Given the description of an element on the screen output the (x, y) to click on. 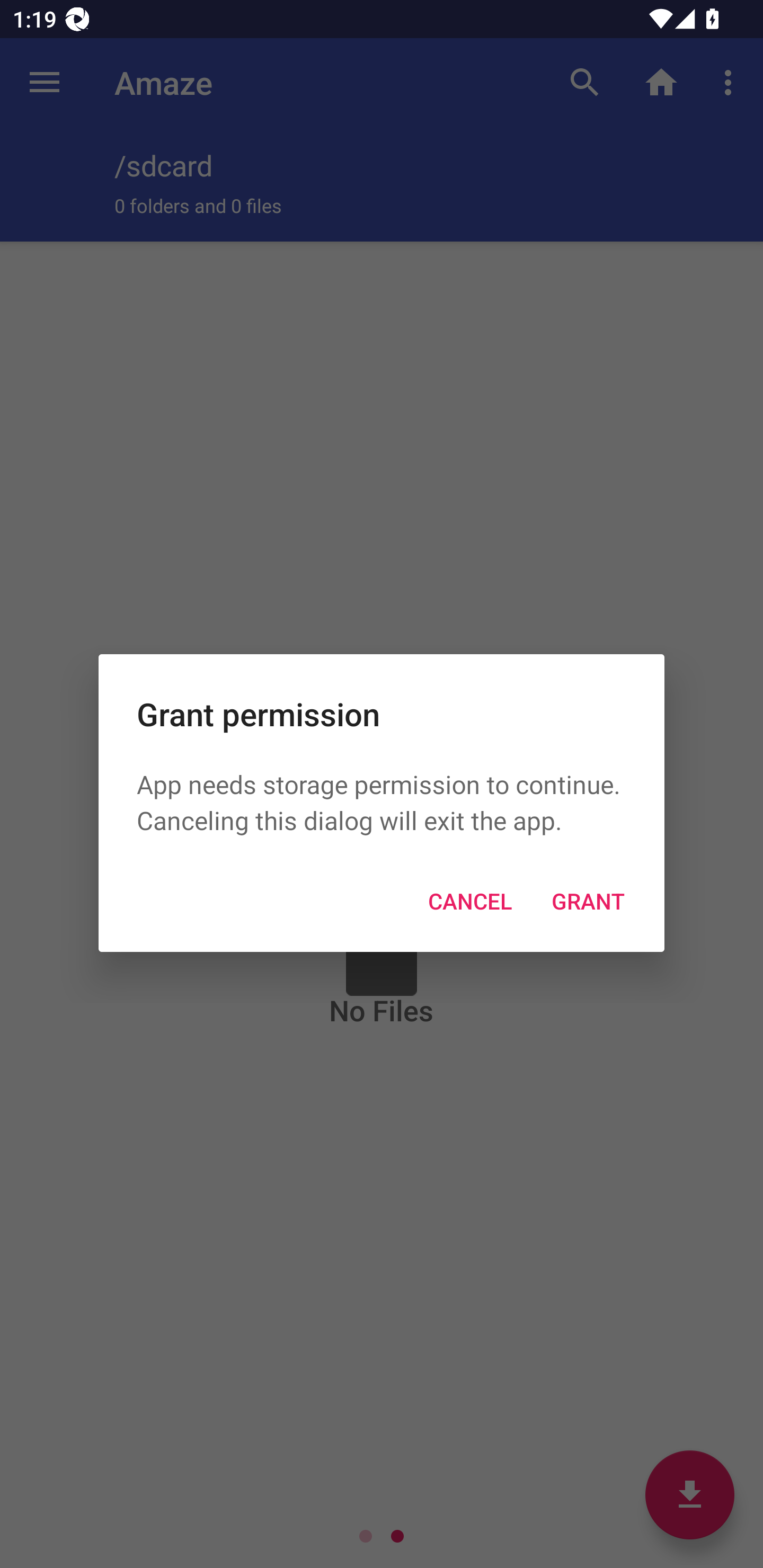
CANCEL (469, 900)
GRANT (588, 900)
